Given the description of an element on the screen output the (x, y) to click on. 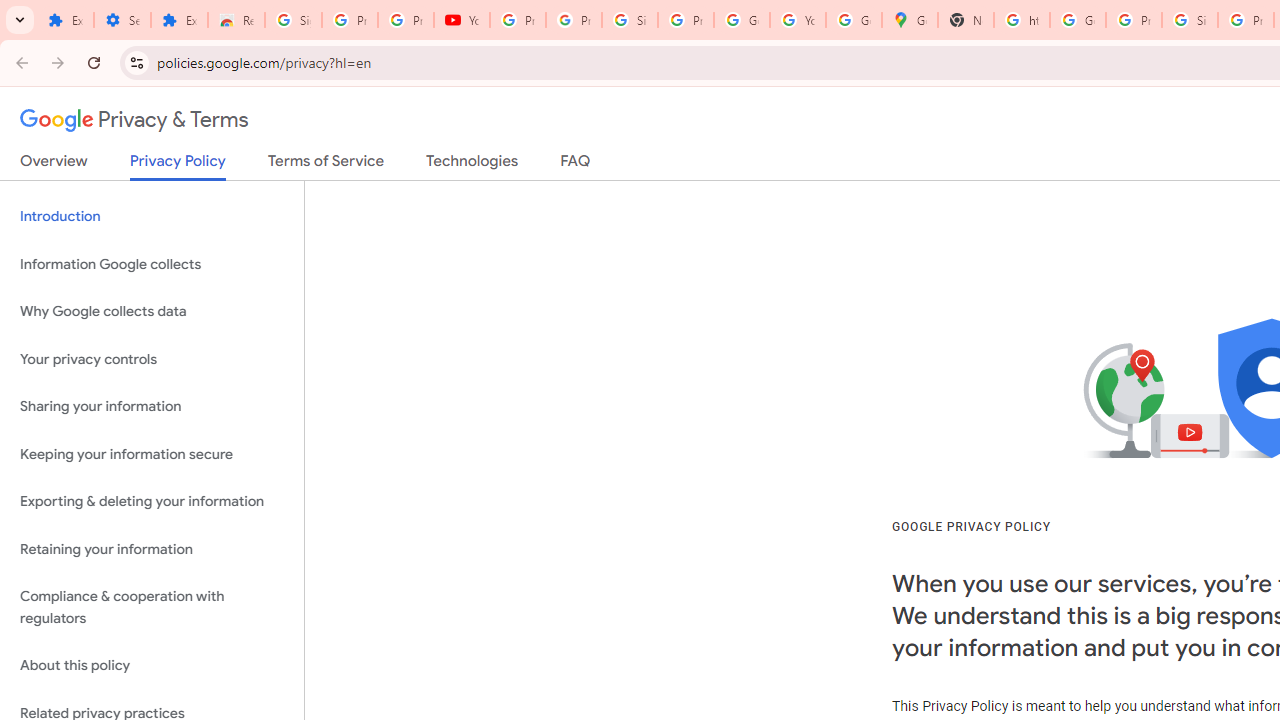
Extensions (179, 20)
Keeping your information secure (152, 453)
Privacy Policy (177, 166)
YouTube (797, 20)
YouTube (461, 20)
Your privacy controls (152, 358)
Exporting & deleting your information (152, 502)
Extensions (65, 20)
Information Google collects (152, 263)
About this policy (152, 666)
